Given the description of an element on the screen output the (x, y) to click on. 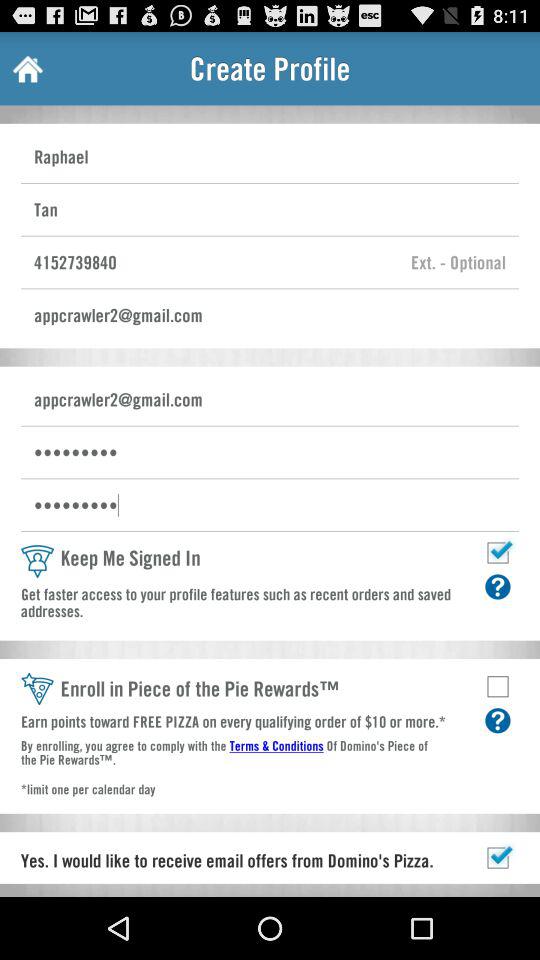
show help (497, 720)
